Given the description of an element on the screen output the (x, y) to click on. 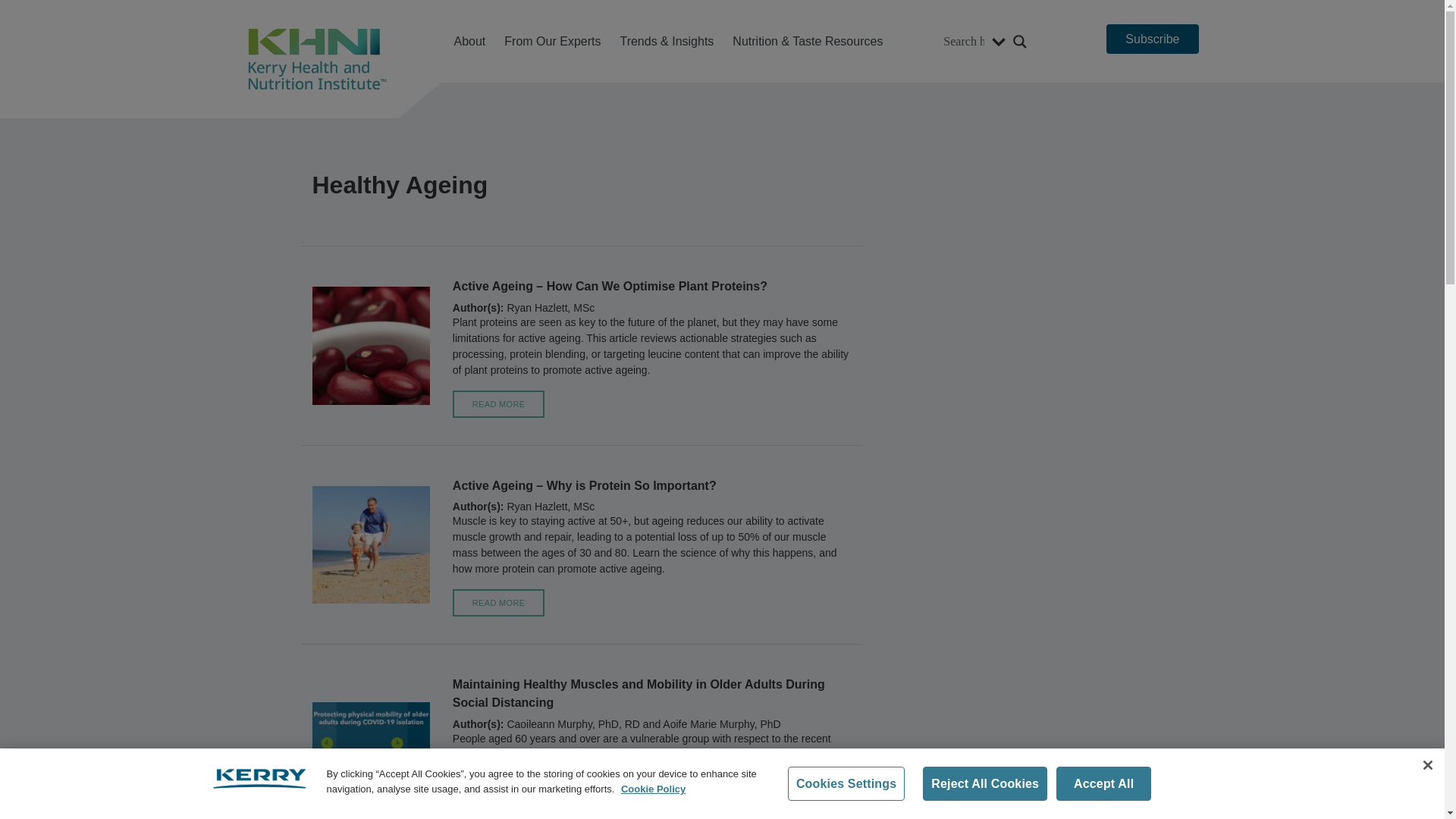
About (468, 41)
READ MORE (498, 403)
Subscribe (1152, 39)
From Our Experts (551, 41)
READ MORE (498, 602)
